Given the description of an element on the screen output the (x, y) to click on. 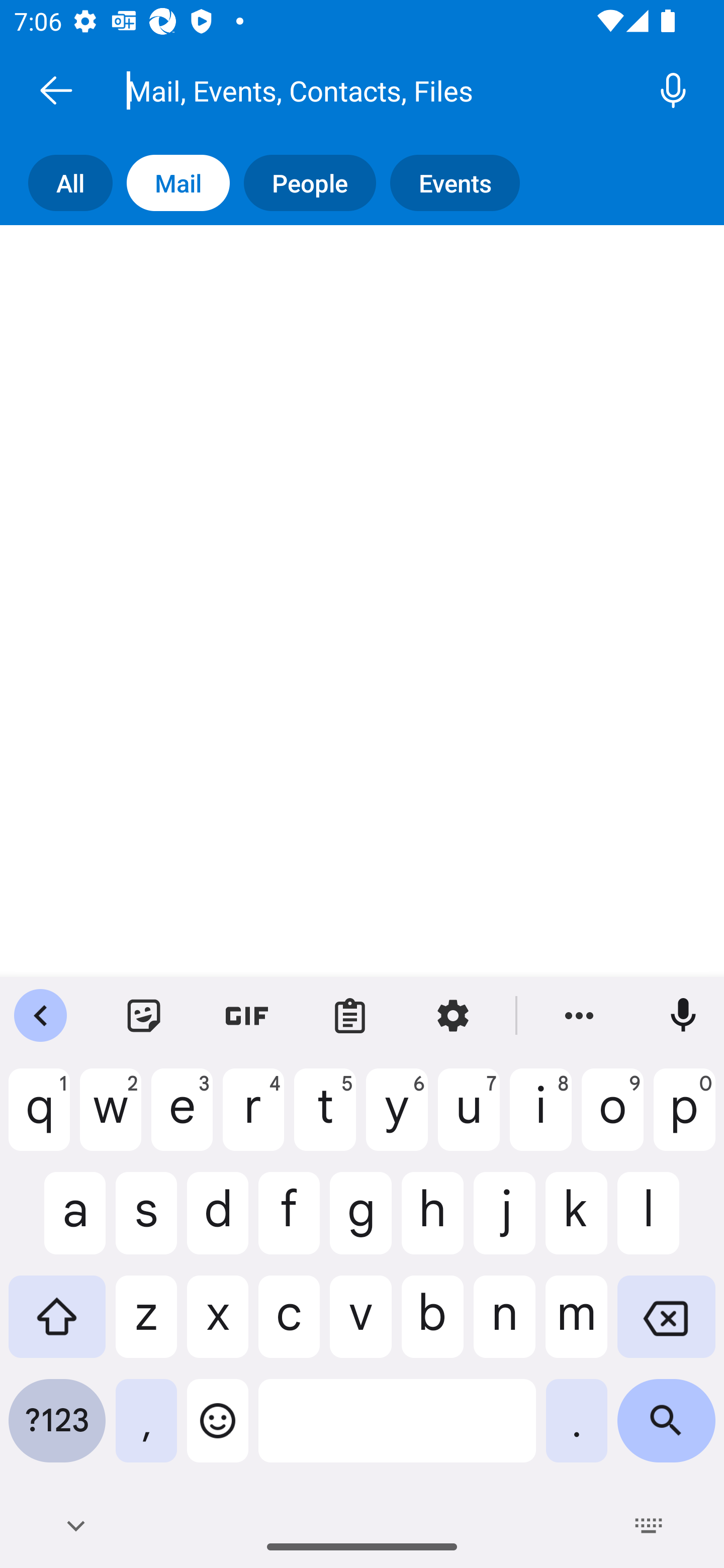
Close (55, 89)
Mail, Events, Contacts, Files (384, 89)
Voice Assistant (670, 89)
All (77, 183)
People (316, 183)
Events (462, 183)
